Given the description of an element on the screen output the (x, y) to click on. 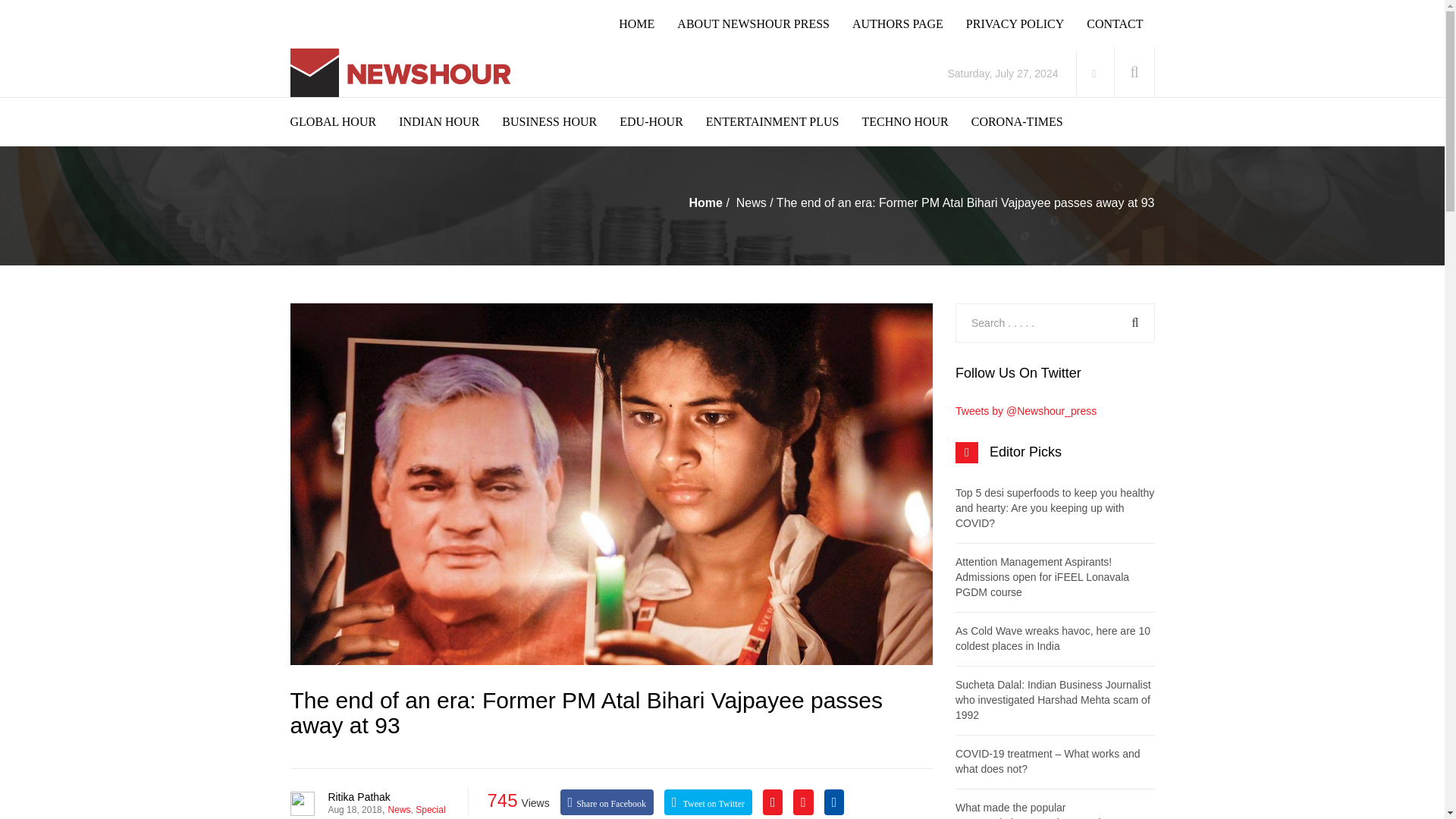
GLOBAL HOUR (343, 121)
HOME (647, 23)
CONTACT (1126, 23)
ENTERTAINMENT PLUS (783, 121)
AUTHORS PAGE (908, 23)
TECHNO HOUR (916, 121)
BUSINESS HOUR (561, 121)
PRIVACY POLICY (1026, 23)
EDU-HOUR (663, 121)
CORONA-TIMES (1028, 121)
ABOUT NEWSHOUR PRESS (764, 23)
Home (705, 202)
Logo (403, 72)
INDIAN HOUR (450, 121)
News (751, 202)
